Given the description of an element on the screen output the (x, y) to click on. 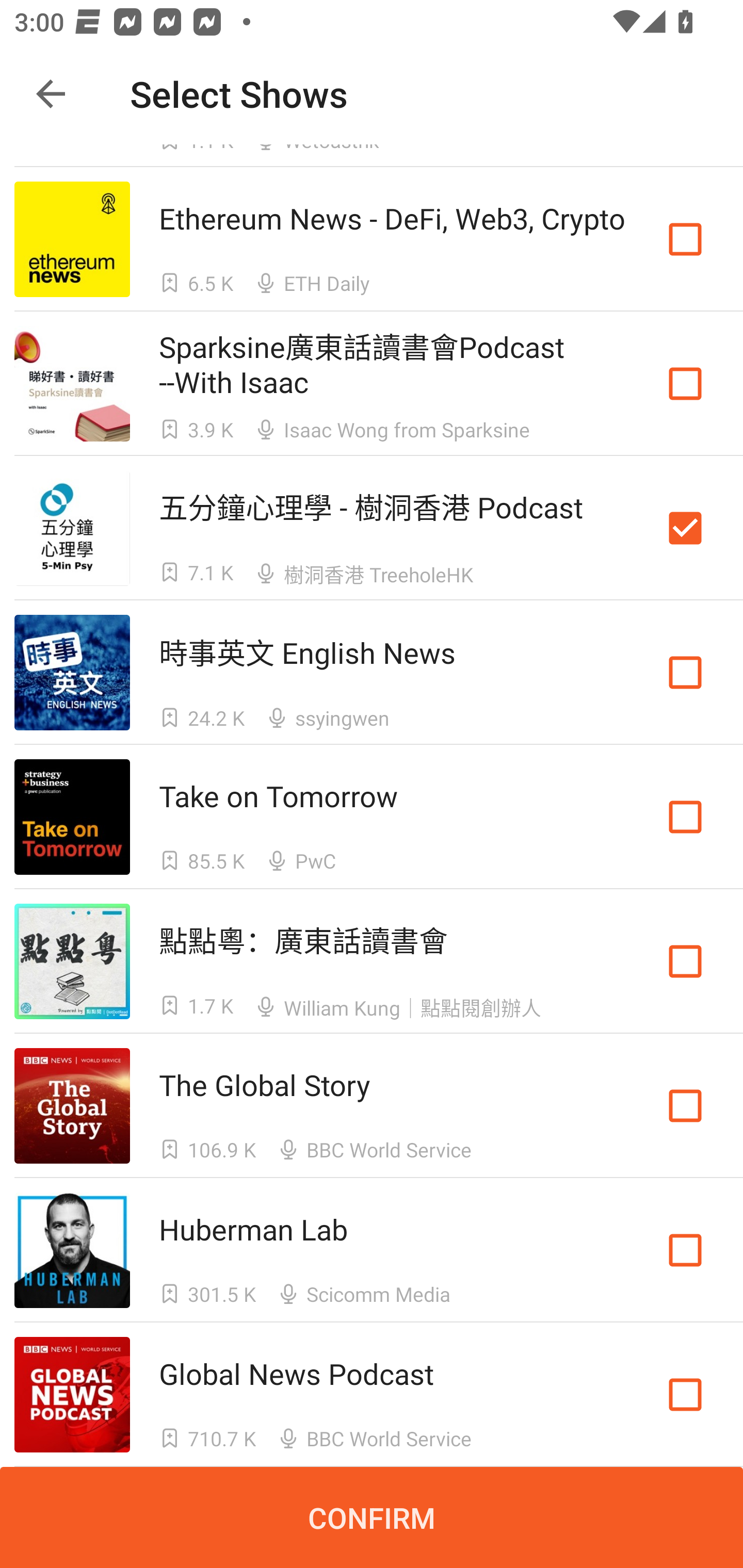
Navigate up (50, 93)
Take on Tomorrow Take on Tomorrow  85.5 K  PwC (371, 816)
CONFIRM (371, 1517)
